Given the description of an element on the screen output the (x, y) to click on. 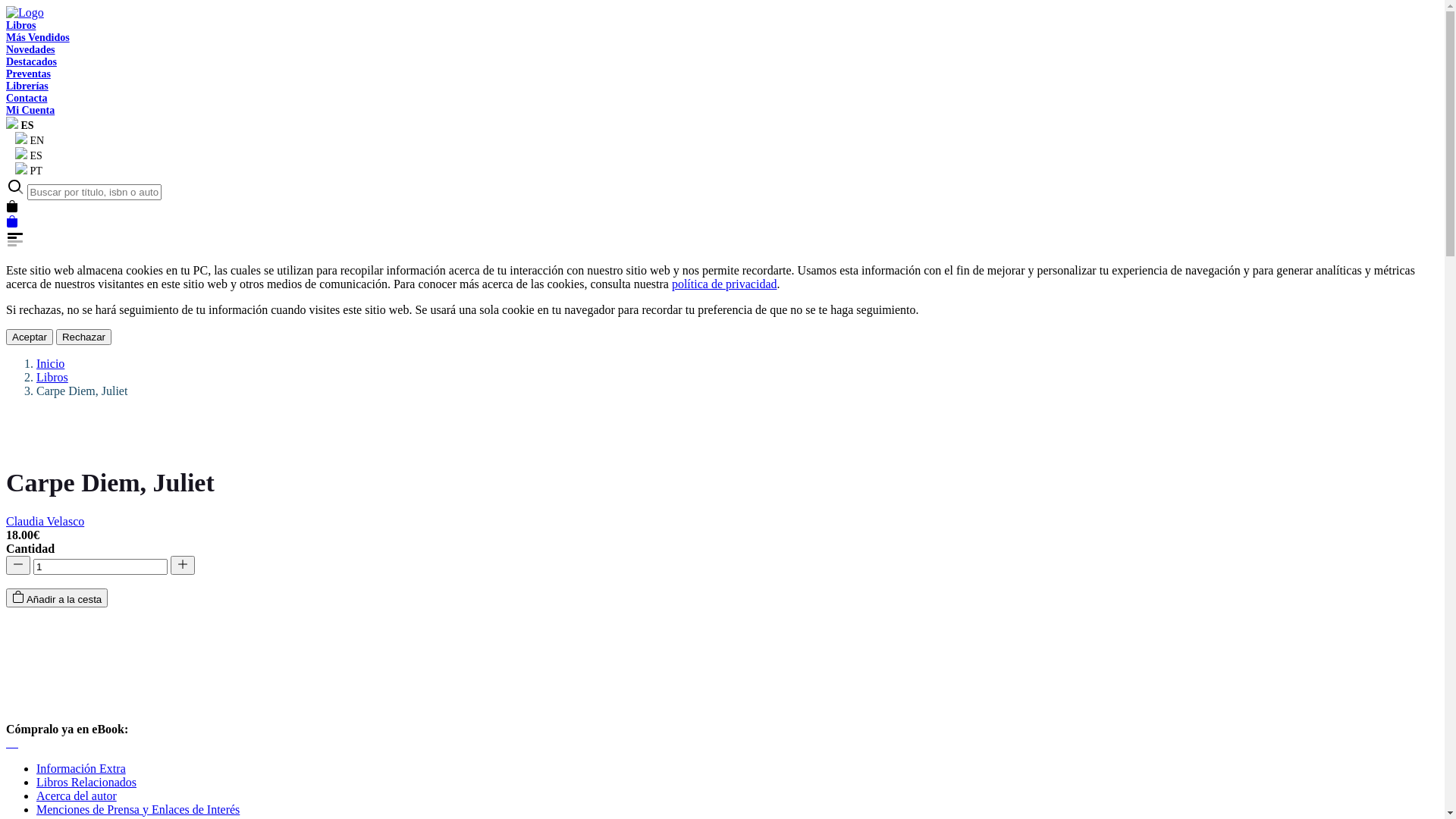
Mi Cuenta Element type: text (30, 110)
Acerca del autor Element type: text (76, 795)
Inicio Element type: text (50, 363)
Rechazar Element type: text (83, 337)
Novedades Element type: text (30, 49)
Aceptar Element type: text (29, 337)
PT Element type: text (24, 170)
EN Element type: text (24, 140)
Libros Element type: text (52, 376)
ES Element type: text (24, 155)
Contacta Element type: text (26, 97)
Libros Element type: text (20, 25)
ES Element type: text (20, 125)
Preventas Element type: text (28, 73)
Destacados Element type: text (31, 61)
Libros Relacionados Element type: text (86, 781)
Claudia Velasco Element type: text (45, 520)
Show header menu Element type: hover (722, 233)
